Given the description of an element on the screen output the (x, y) to click on. 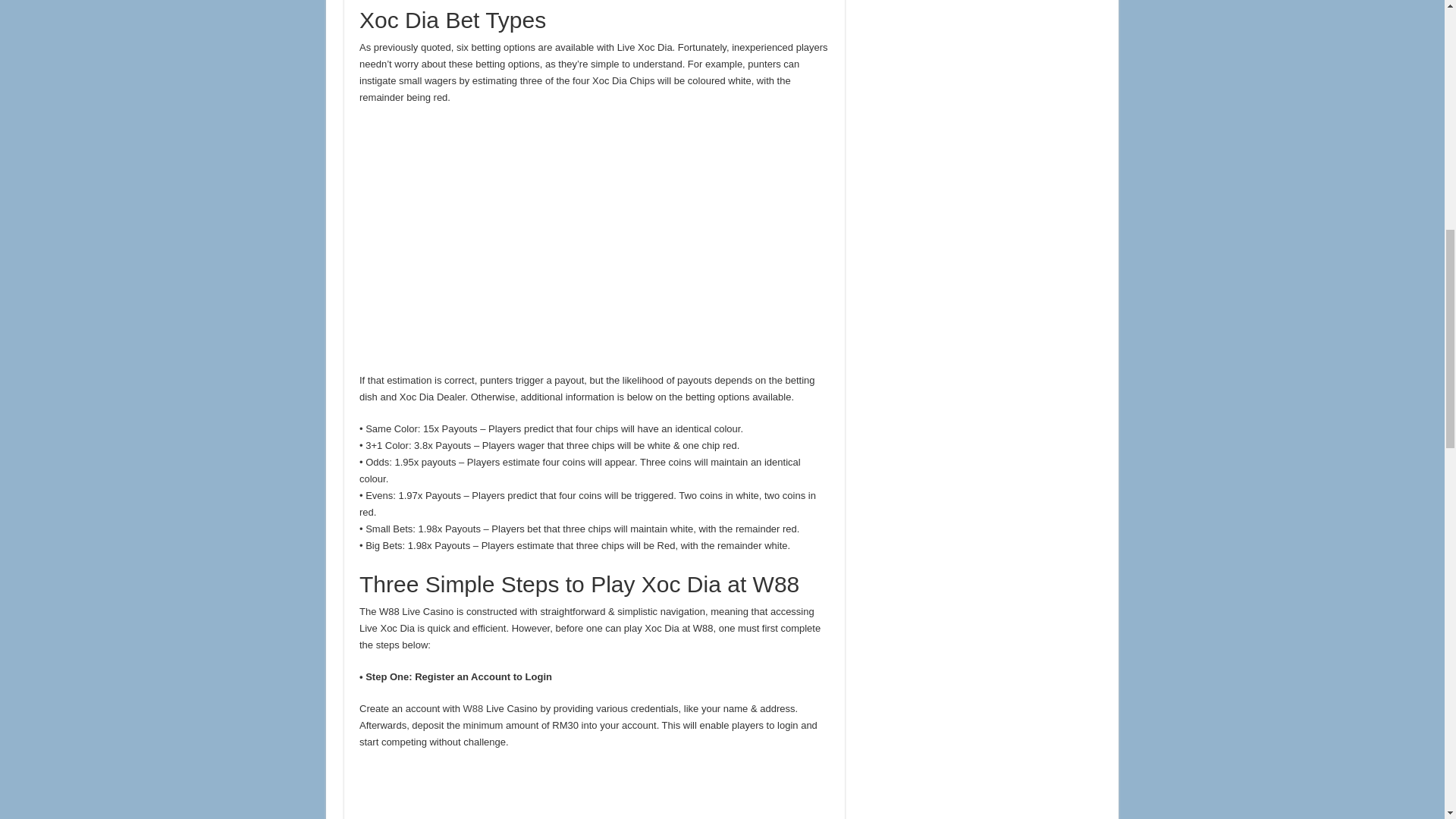
W88 (473, 708)
Scroll To Top (1421, 60)
